Given the description of an element on the screen output the (x, y) to click on. 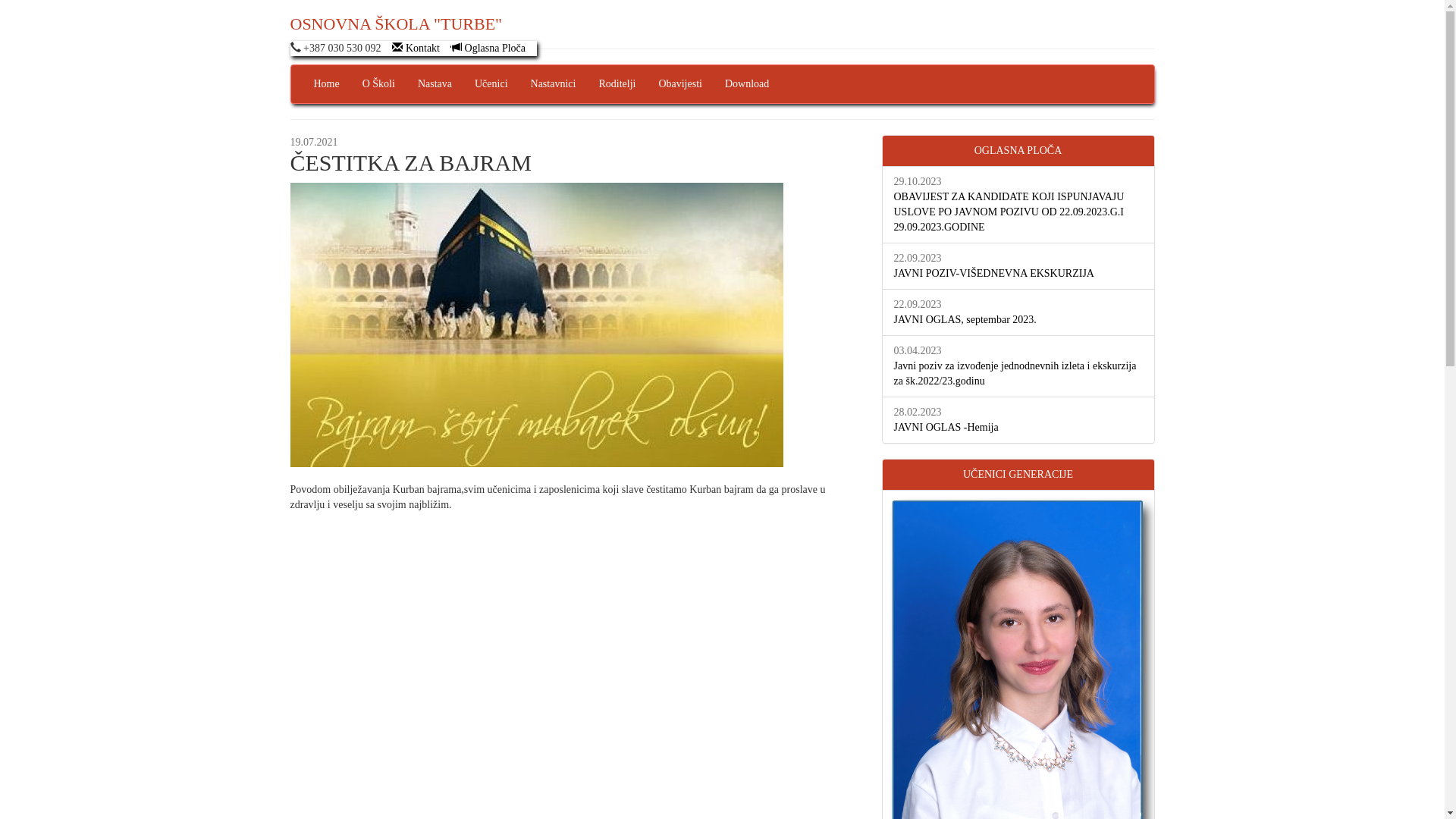
Roditelji Element type: text (616, 84)
Nastava Element type: text (434, 84)
Obavijesti Element type: text (679, 84)
Kontakt Element type: text (415, 48)
JAVNI OGLAS -Hemija Element type: text (945, 427)
Home Element type: text (325, 84)
Nastavnici Element type: text (553, 84)
Download Element type: text (746, 84)
JAVNI OGLAS, septembar 2023. Element type: text (964, 319)
